Given the description of an element on the screen output the (x, y) to click on. 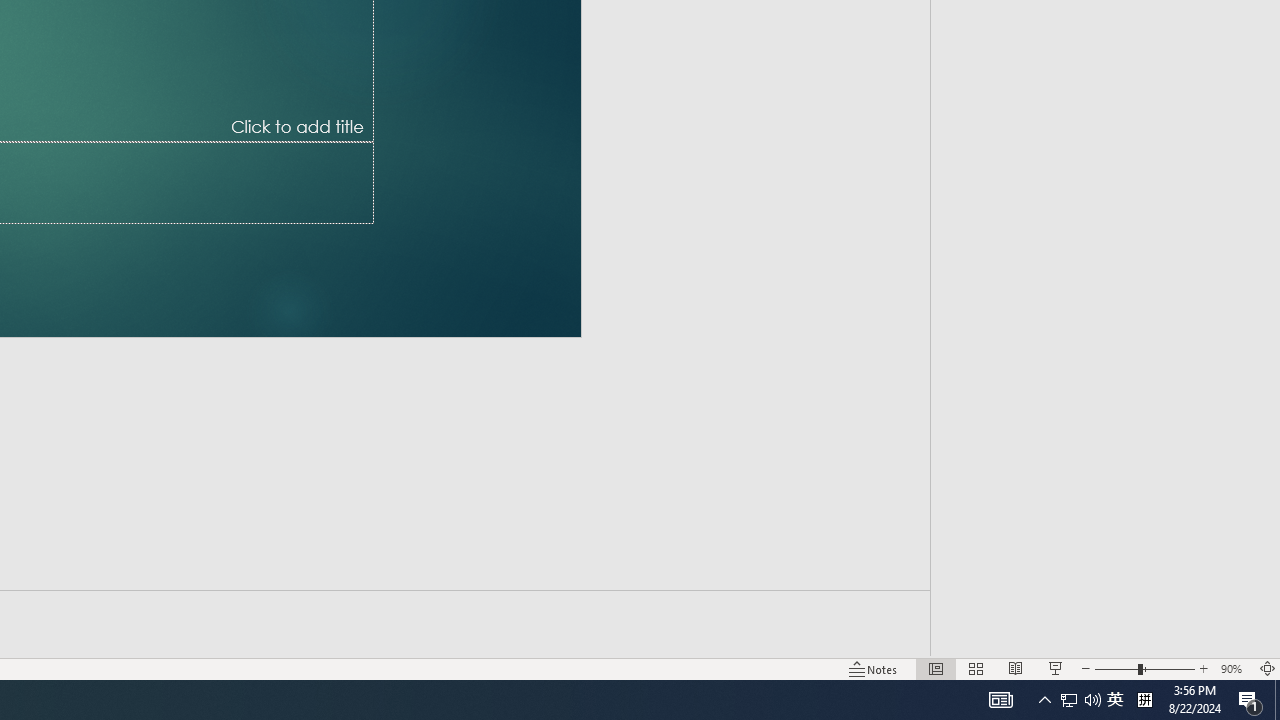
Action Center, 1 new notification (1250, 699)
